Given the description of an element on the screen output the (x, y) to click on. 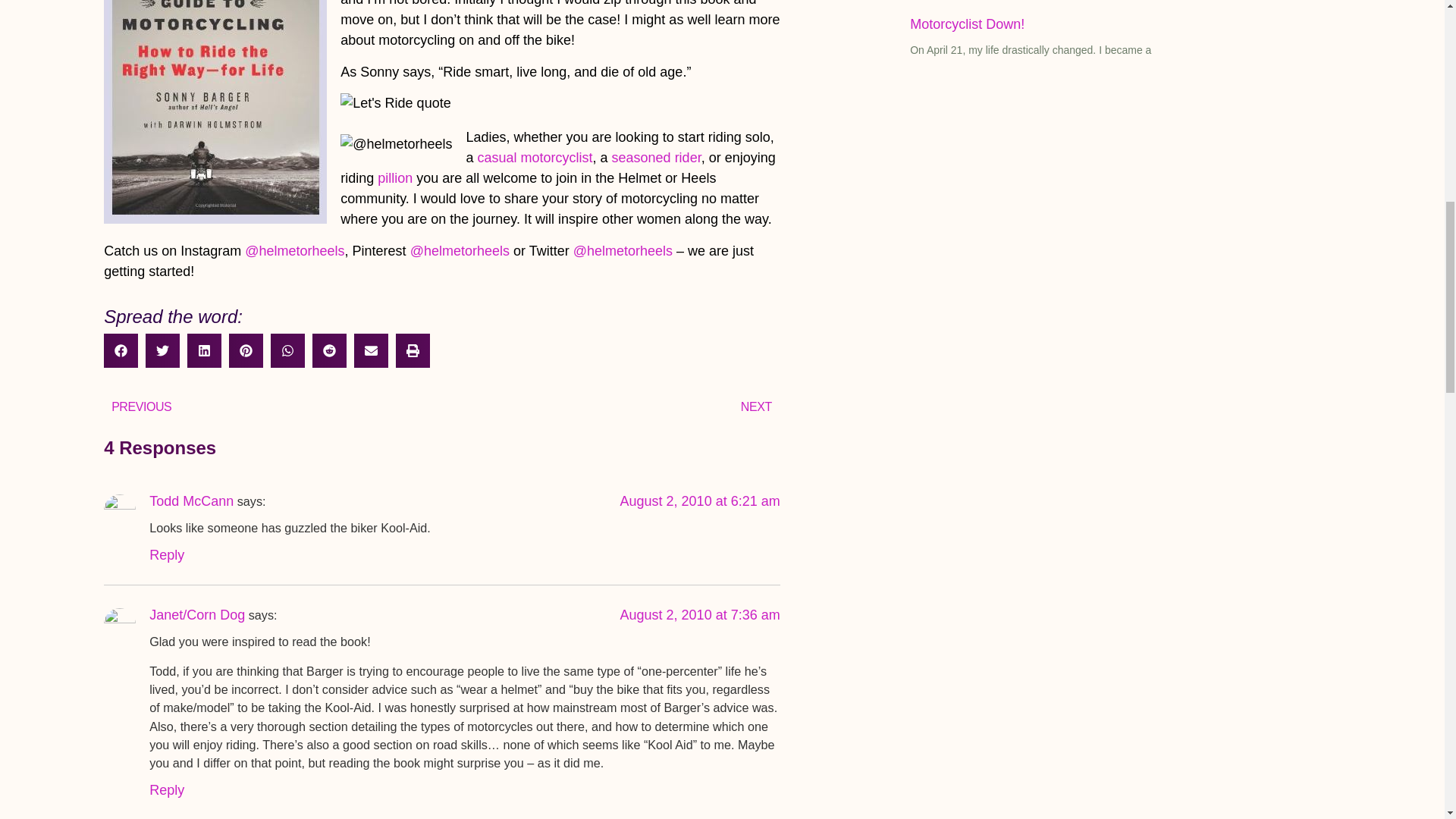
NEXT (609, 407)
PREVIOUS (272, 407)
Todd McCann (190, 500)
pillion (394, 177)
seasoned rider (656, 157)
Reply (166, 554)
Let's Ride Sonny Barger book (214, 111)
August 2, 2010 at 6:21 am (700, 500)
casual motorcyclist (534, 157)
Let's Ride quote (395, 103)
